Given the description of an element on the screen output the (x, y) to click on. 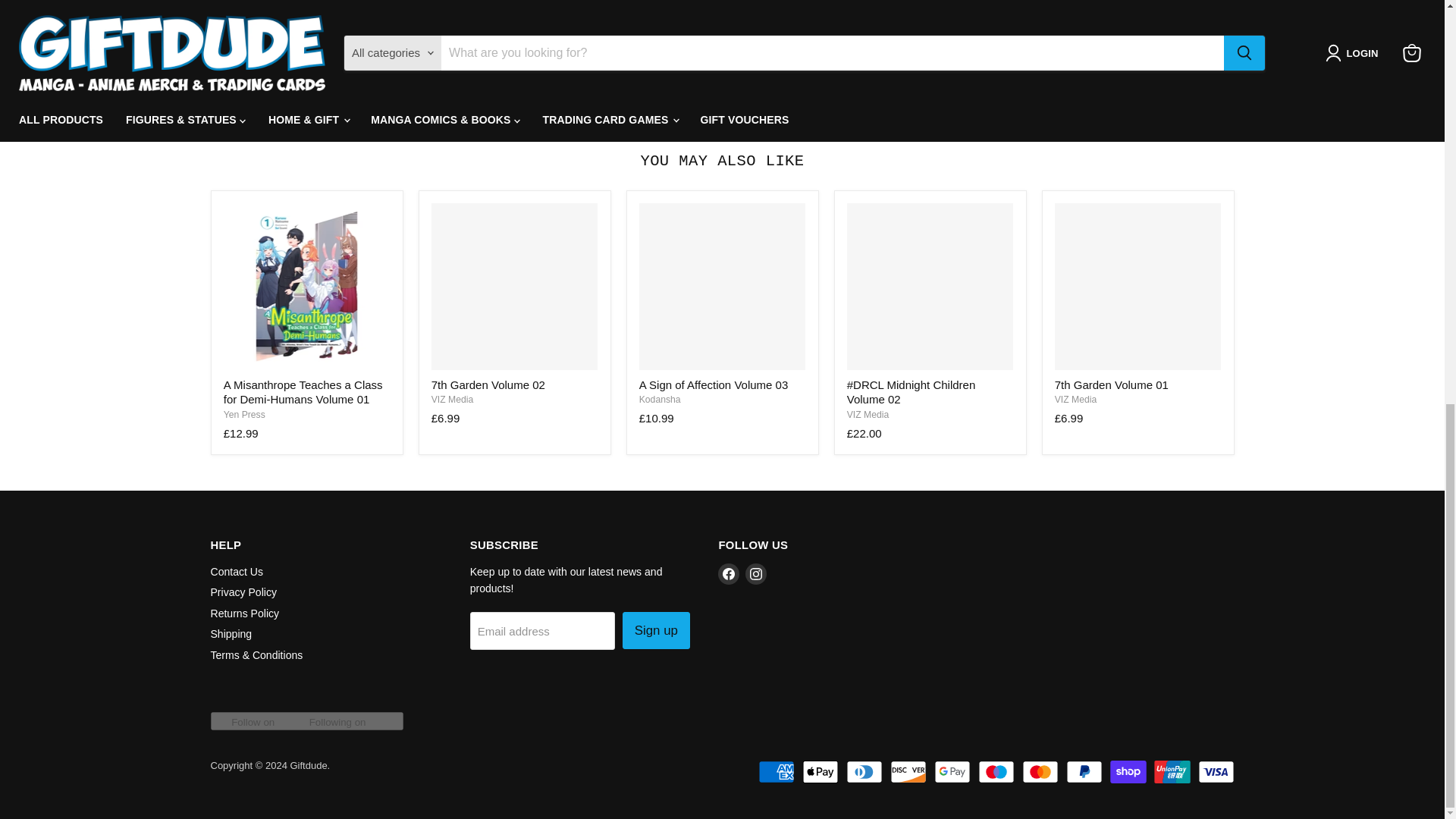
Yen Press (244, 414)
VIZ Media (1075, 398)
Instagram (756, 573)
Facebook (728, 573)
VIZ Media (867, 414)
VIZ Media (451, 398)
Kodansha (660, 398)
